Given the description of an element on the screen output the (x, y) to click on. 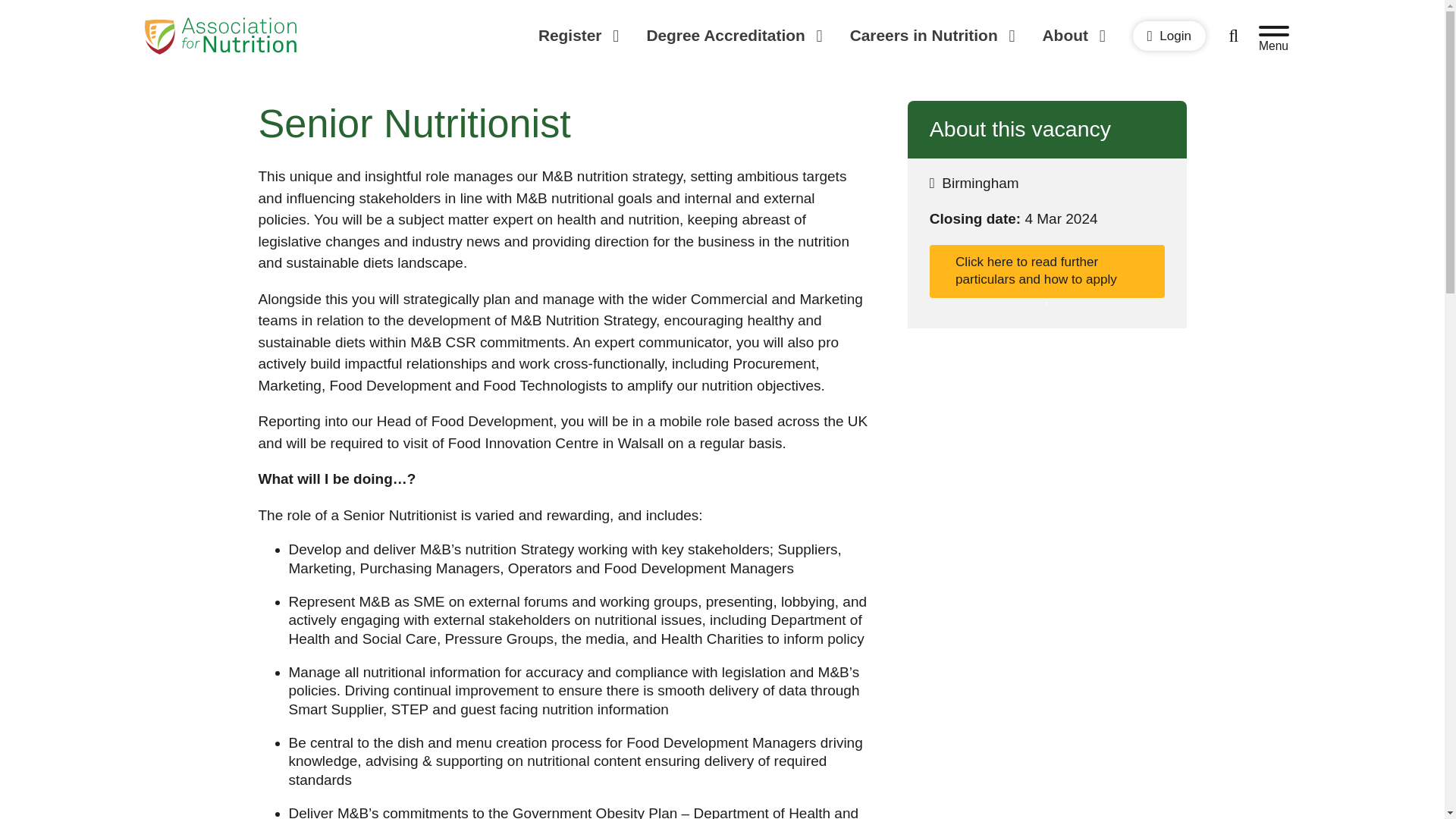
Degree Accreditation (733, 35)
Register (577, 35)
Closing date (1047, 219)
Location (1047, 183)
Careers in Nutrition (931, 35)
